Given the description of an element on the screen output the (x, y) to click on. 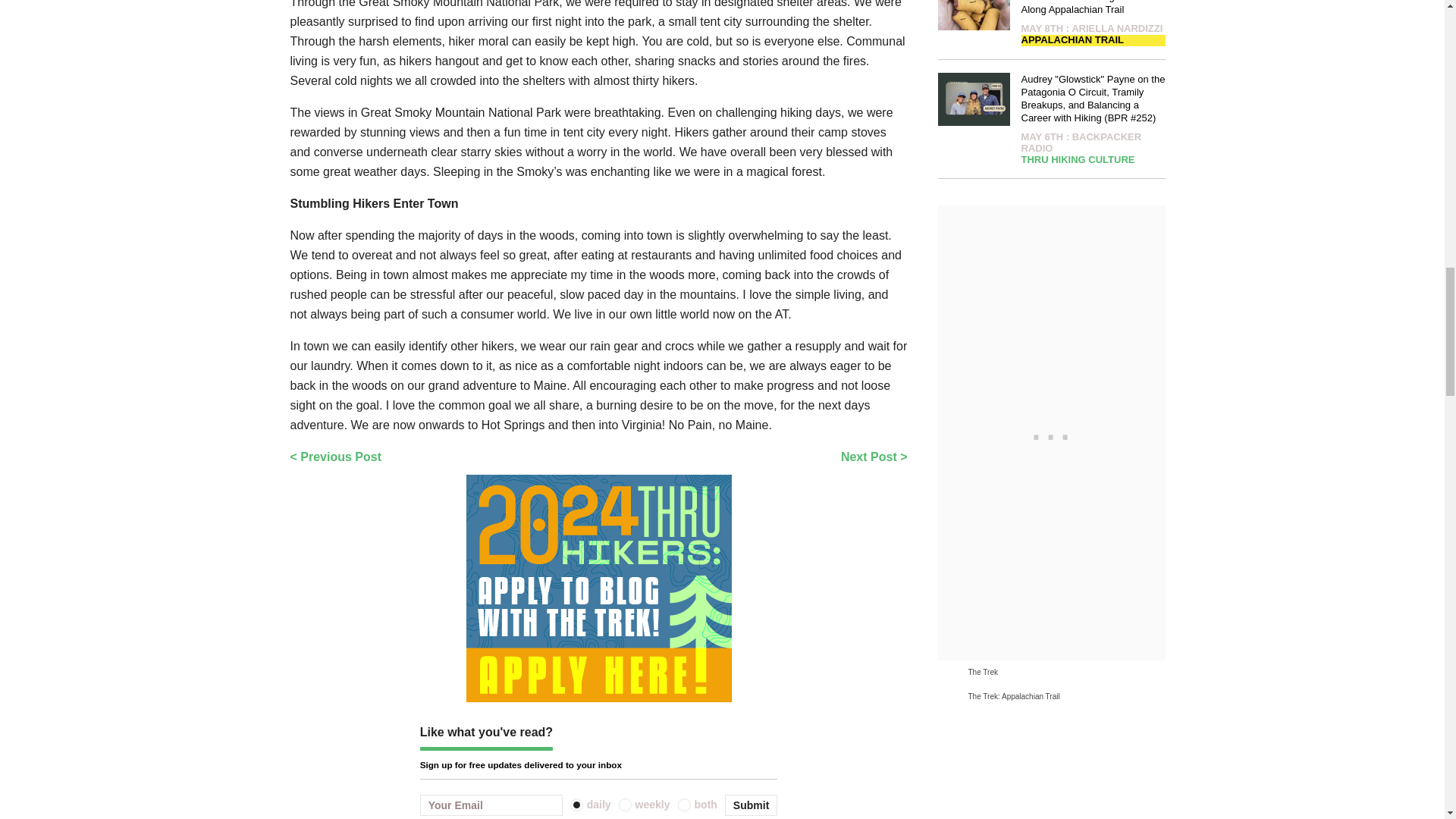
Sign Up (751, 804)
